Given the description of an element on the screen output the (x, y) to click on. 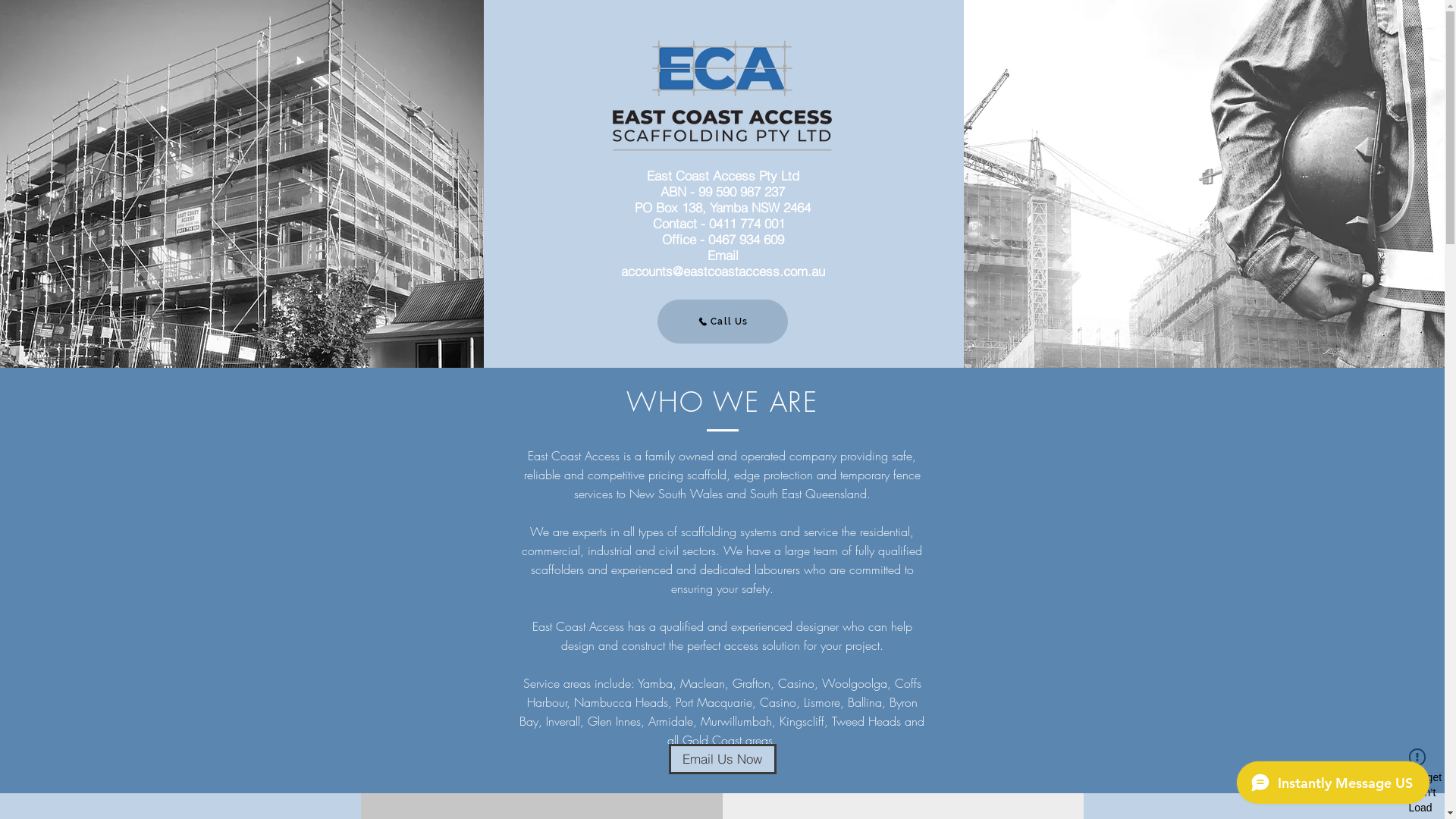
accounts@eastcoastaccess.com.au Element type: text (723, 271)
Email Us Now Element type: text (722, 758)
Call Us Element type: text (722, 321)
